Given the description of an element on the screen output the (x, y) to click on. 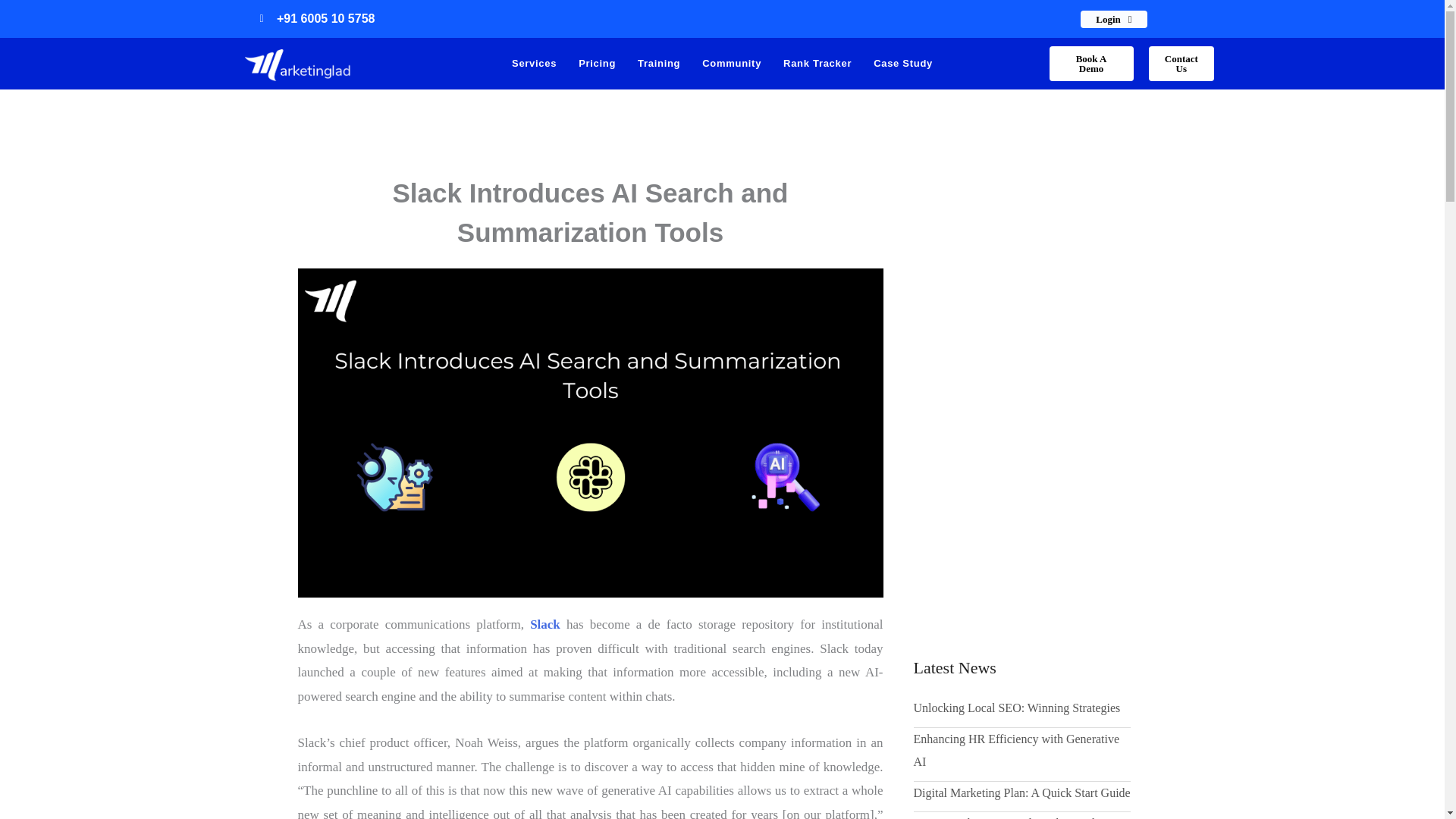
Services (533, 63)
Case Study (903, 63)
Rank Tracker (817, 63)
Login (1113, 18)
Pricing (596, 63)
Training (658, 63)
Community (731, 63)
